Given the description of an element on the screen output the (x, y) to click on. 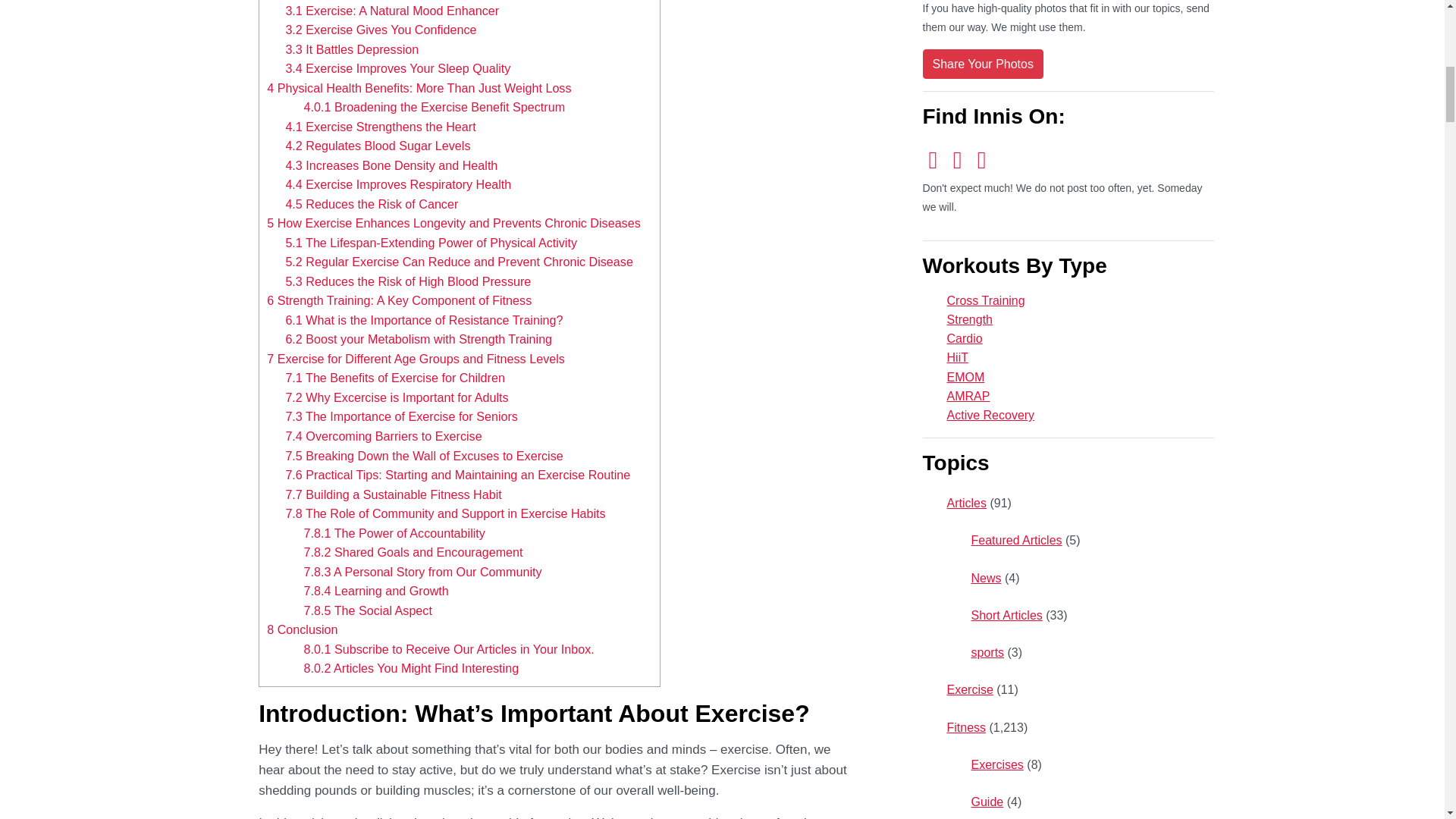
4 Physical Health Benefits: More Than Just Weight Loss (418, 88)
3.3 It Battles Depression (352, 49)
3.4 Exercise Improves Your Sleep Quality (398, 68)
3.1 Exercise: A Natural Mood Enhancer (392, 10)
3.2 Exercise Gives You Confidence (380, 29)
